Given the description of an element on the screen output the (x, y) to click on. 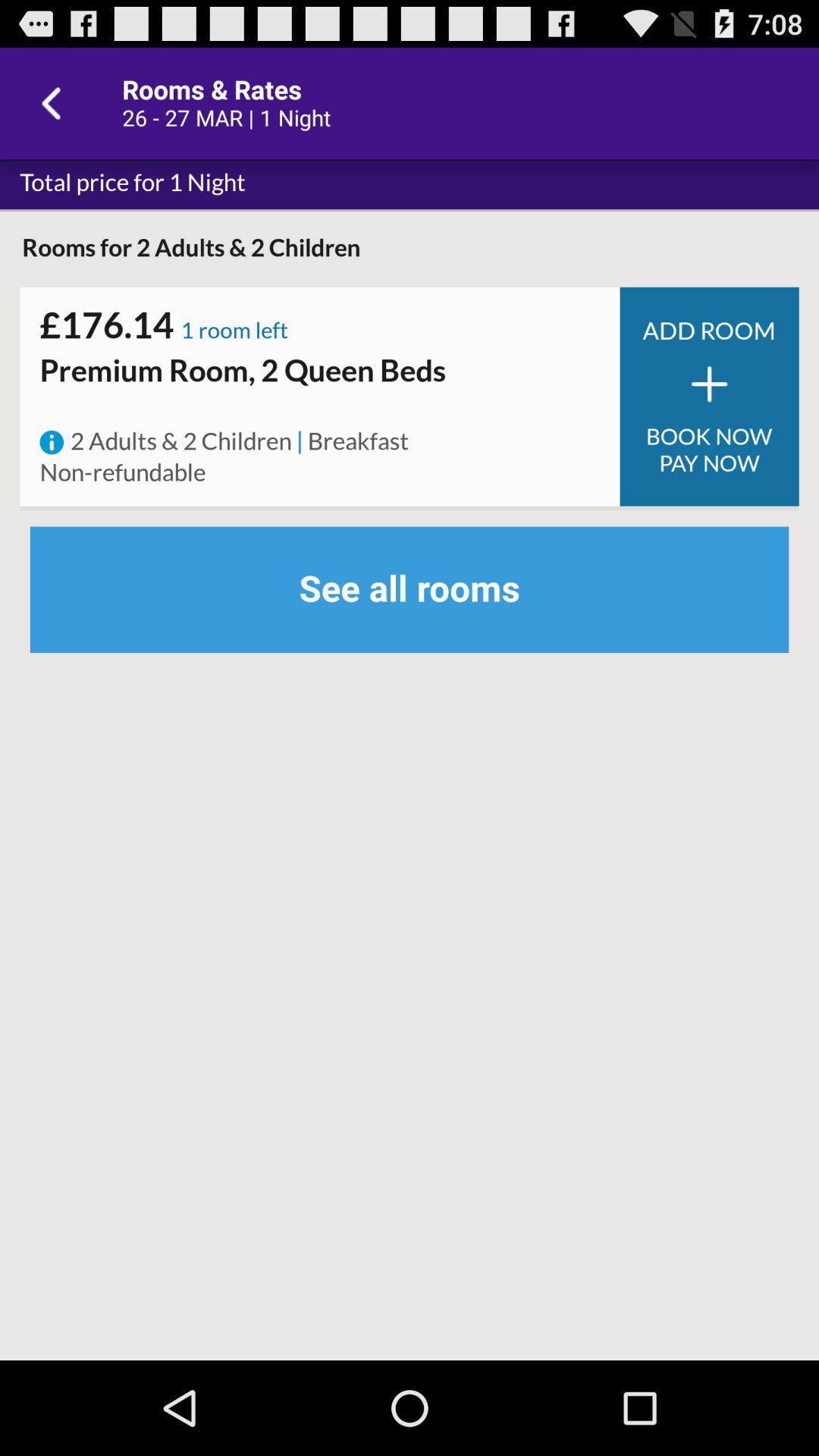
jump until non-refundable icon (122, 473)
